Given the description of an element on the screen output the (x, y) to click on. 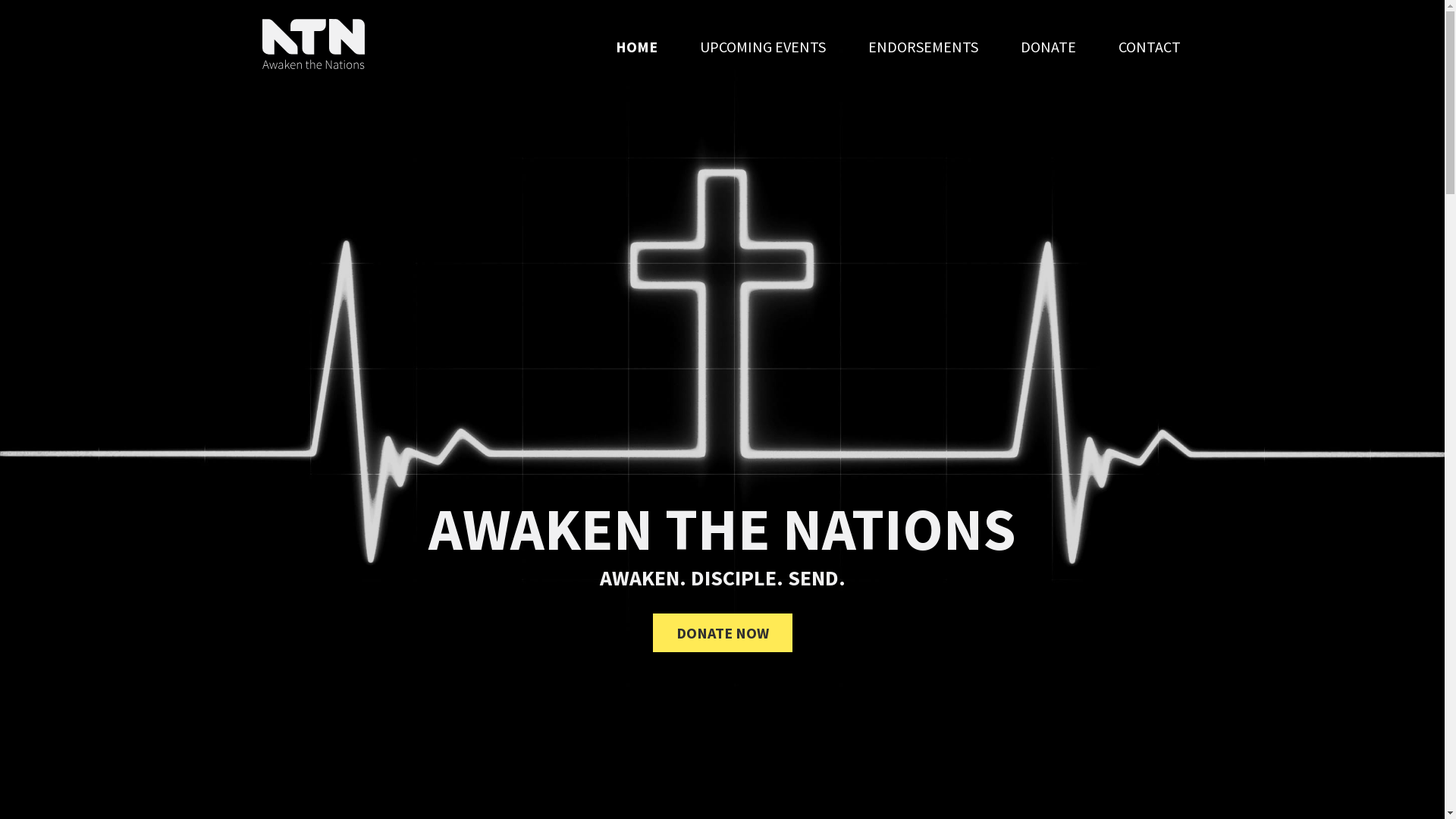
DONATE Element type: text (1048, 46)
HOME Element type: text (636, 46)
DONATE NOW Element type: text (721, 632)
UPCOMING EVENTS Element type: text (762, 46)
ENDORSEMENTS Element type: text (922, 46)
CONTACT Element type: text (1148, 46)
